Given the description of an element on the screen output the (x, y) to click on. 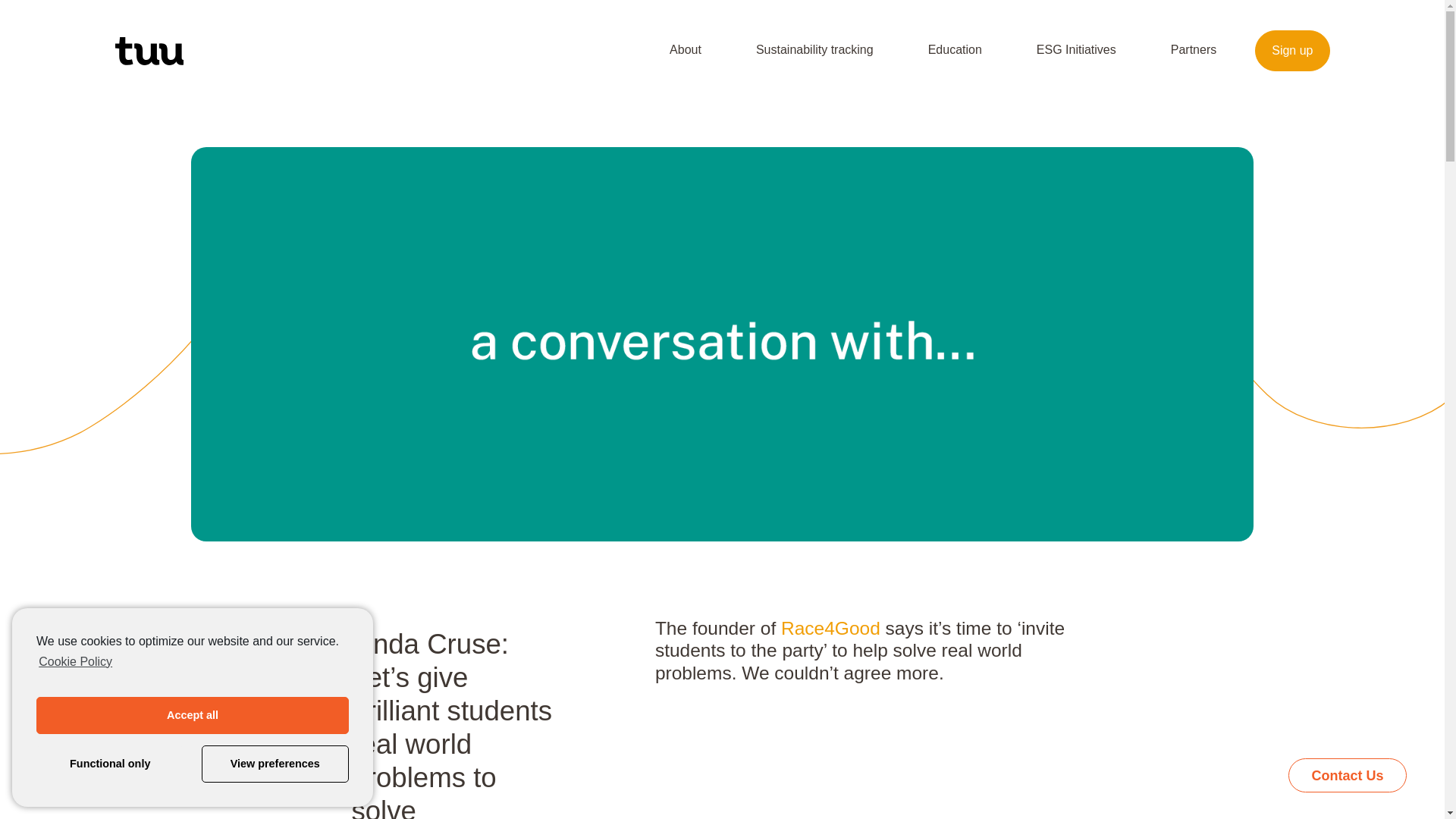
Partners (1192, 49)
Sustainability tracking (814, 49)
About (685, 49)
ESG Initiatives (1076, 49)
Cookie Policy (74, 661)
View preferences (275, 763)
Accept all (192, 714)
Sign up (1292, 50)
Functional only (109, 763)
Race4Good (830, 628)
